Given the description of an element on the screen output the (x, y) to click on. 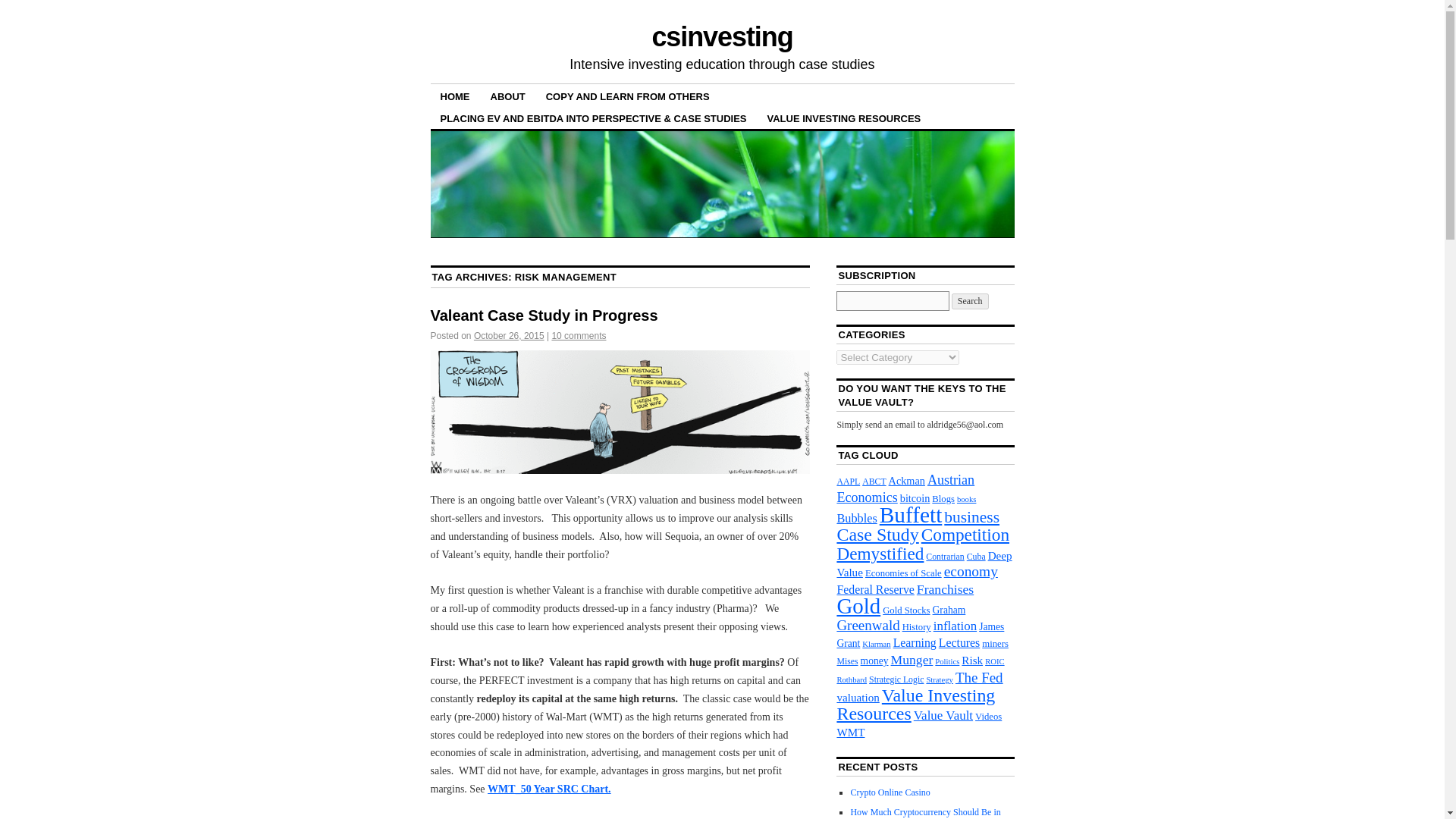
Valeant Case Study in Progress (544, 315)
Search (970, 301)
VALUE INVESTING RESOURCES (844, 117)
Search (970, 301)
csinvesting (721, 36)
HOME (455, 96)
COPY AND LEARN FROM OTHERS (627, 96)
bitcoin (914, 498)
9:14 am (509, 335)
ABCT (873, 480)
ABOUT (507, 96)
October 26, 2015 (509, 335)
csinvesting (721, 36)
Austrian Economics (904, 488)
Ackman (906, 480)
